Given the description of an element on the screen output the (x, y) to click on. 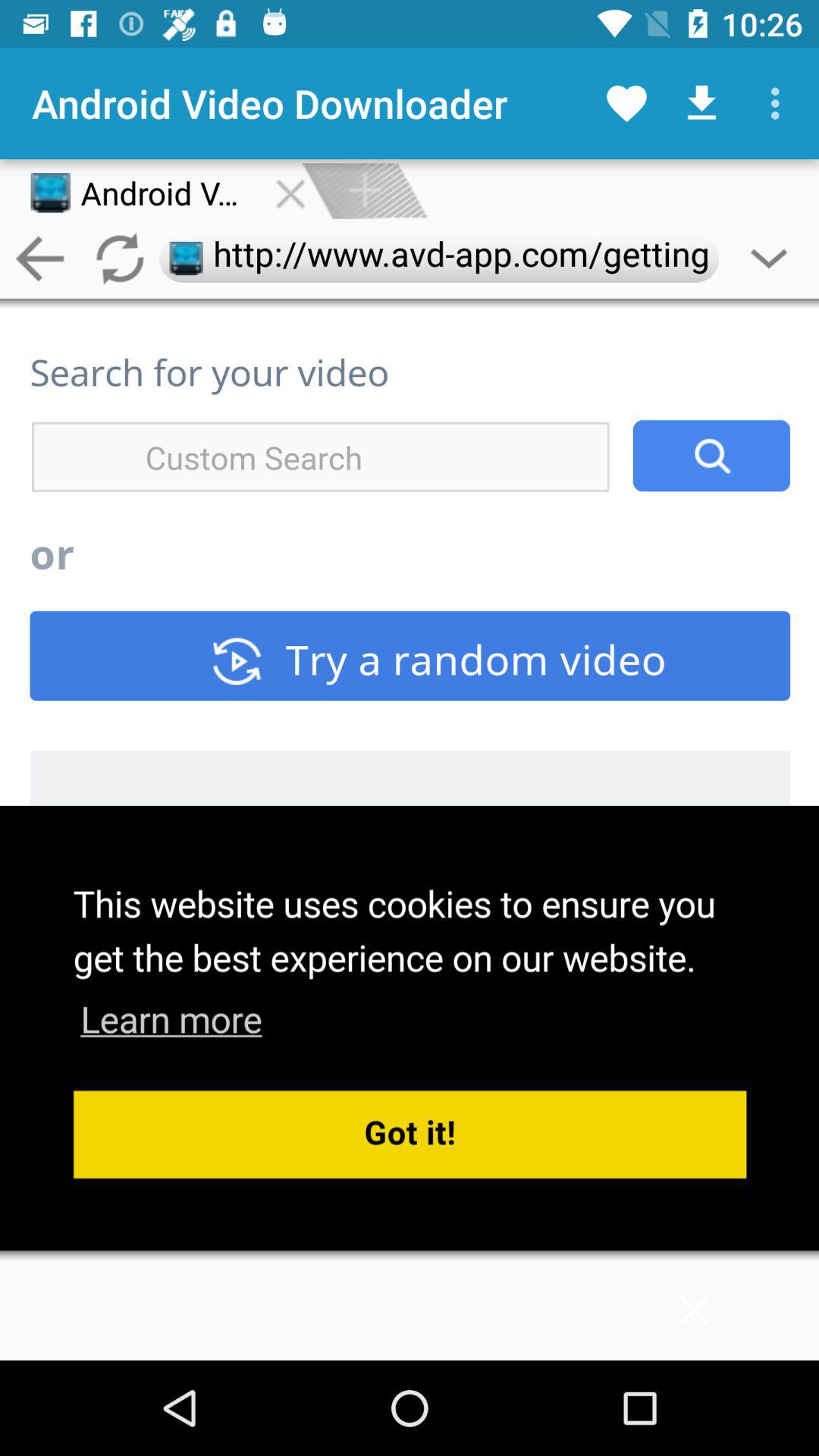
click on the download icon at the top right corner of the page (701, 103)
click on  (364, 191)
click on the close button (290, 191)
click on the drop down icon (769, 258)
click on the favorites icon (626, 103)
click on httpwwwavdappcomgetting (438, 258)
